Given the description of an element on the screen output the (x, y) to click on. 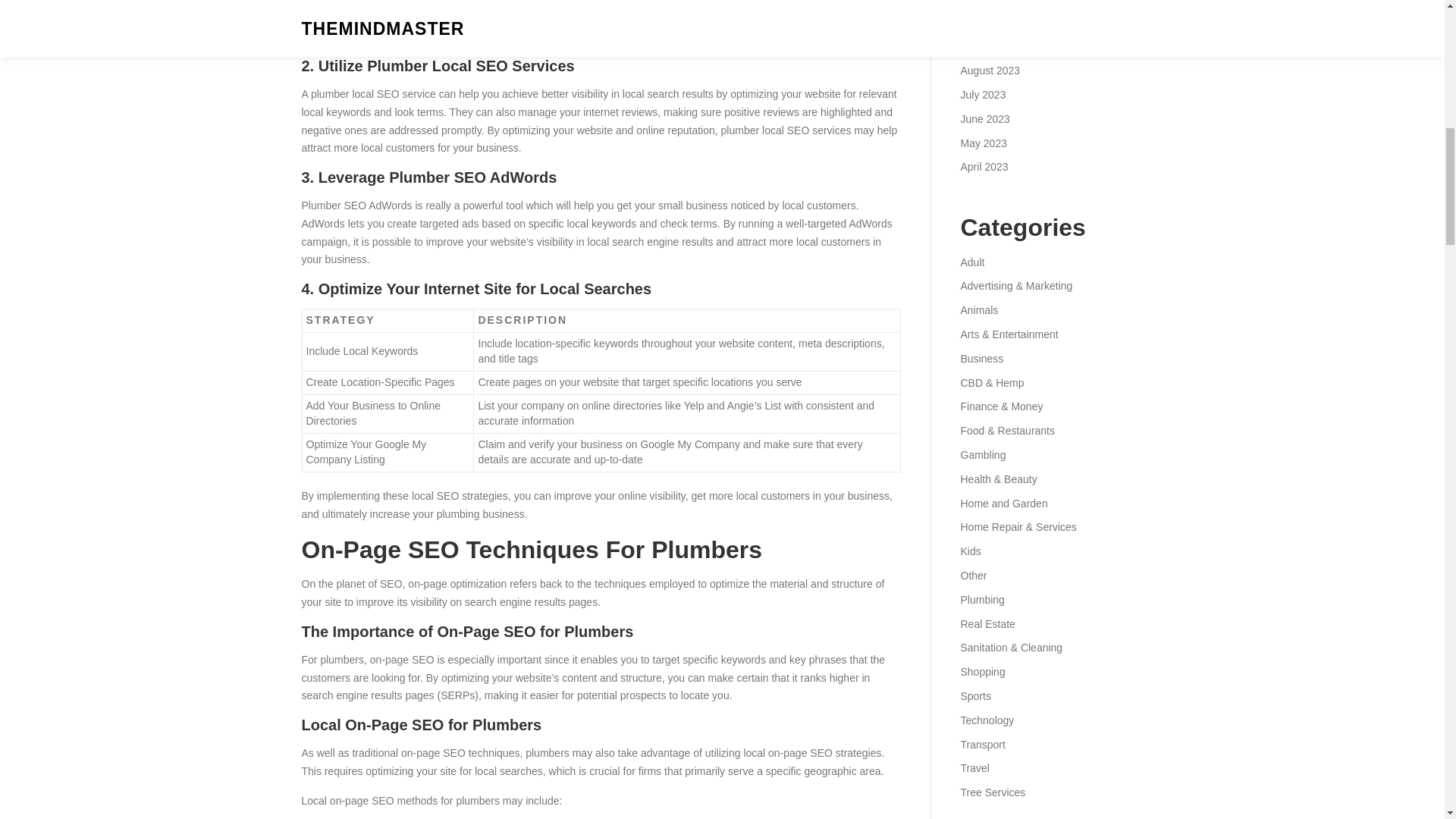
July 2023 (982, 94)
Business (981, 358)
Animals (978, 309)
Gambling (982, 454)
April 2023 (983, 166)
May 2023 (982, 143)
August 2023 (989, 70)
October 2023 (992, 22)
November 2023 (997, 2)
Adult (971, 262)
June 2023 (984, 119)
September 2023 (999, 46)
